Given the description of an element on the screen output the (x, y) to click on. 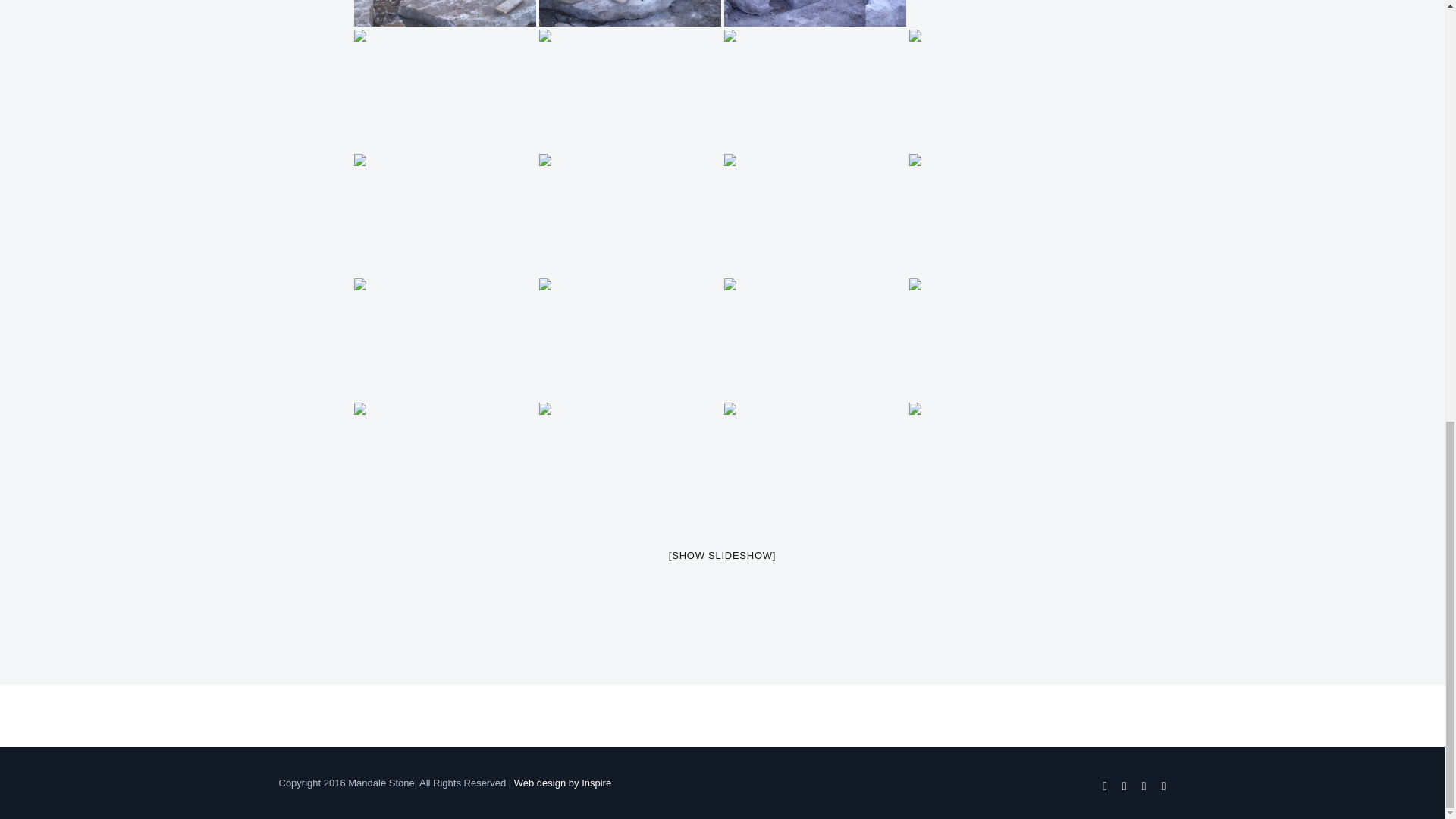
Blocks on stock (999, 13)
Triming Block (814, 13)
Triming Block (629, 13)
Getting Block (444, 13)
